Given the description of an element on the screen output the (x, y) to click on. 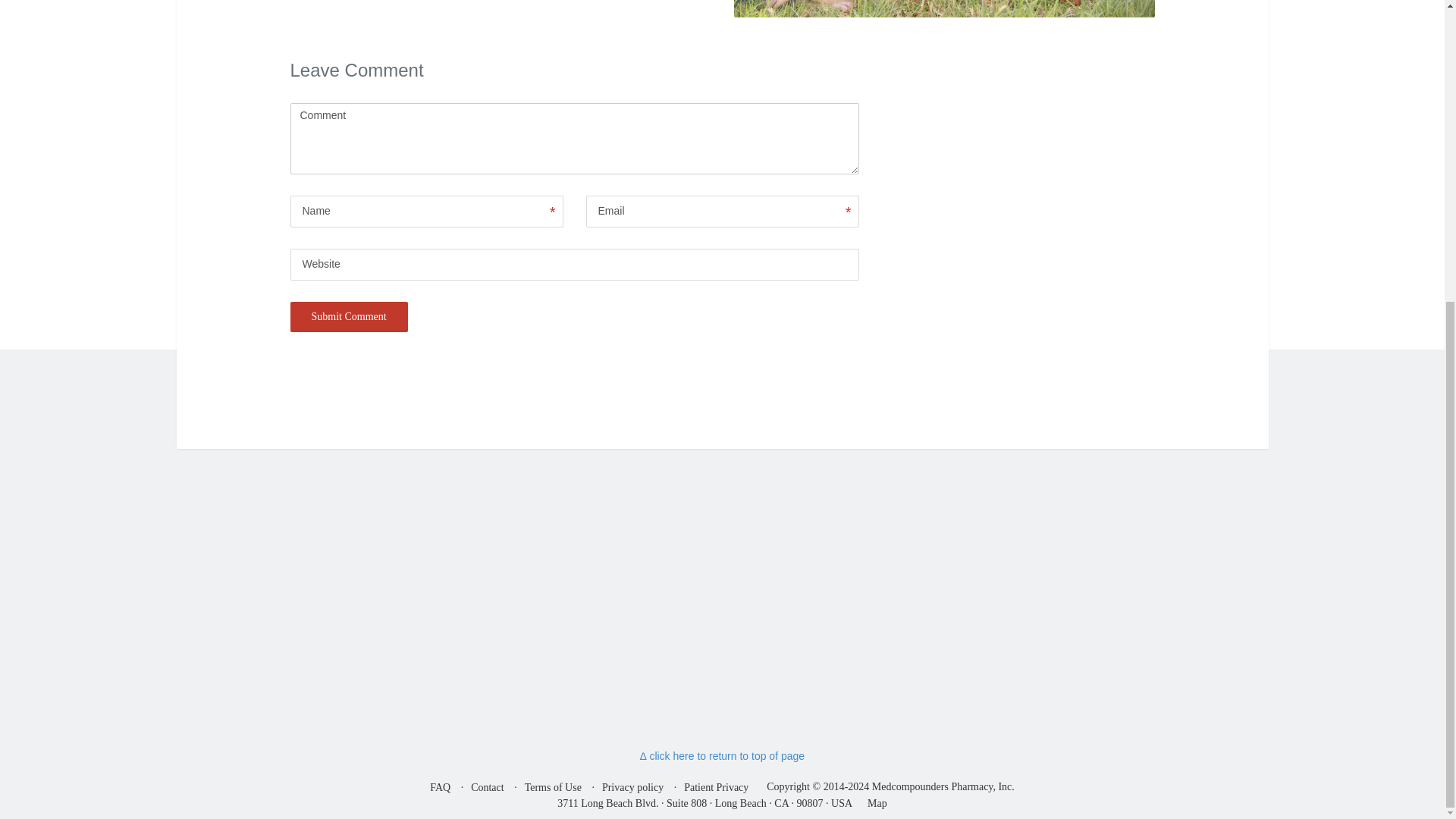
Submit Comment (348, 317)
Submit Comment (348, 317)
